Given the description of an element on the screen output the (x, y) to click on. 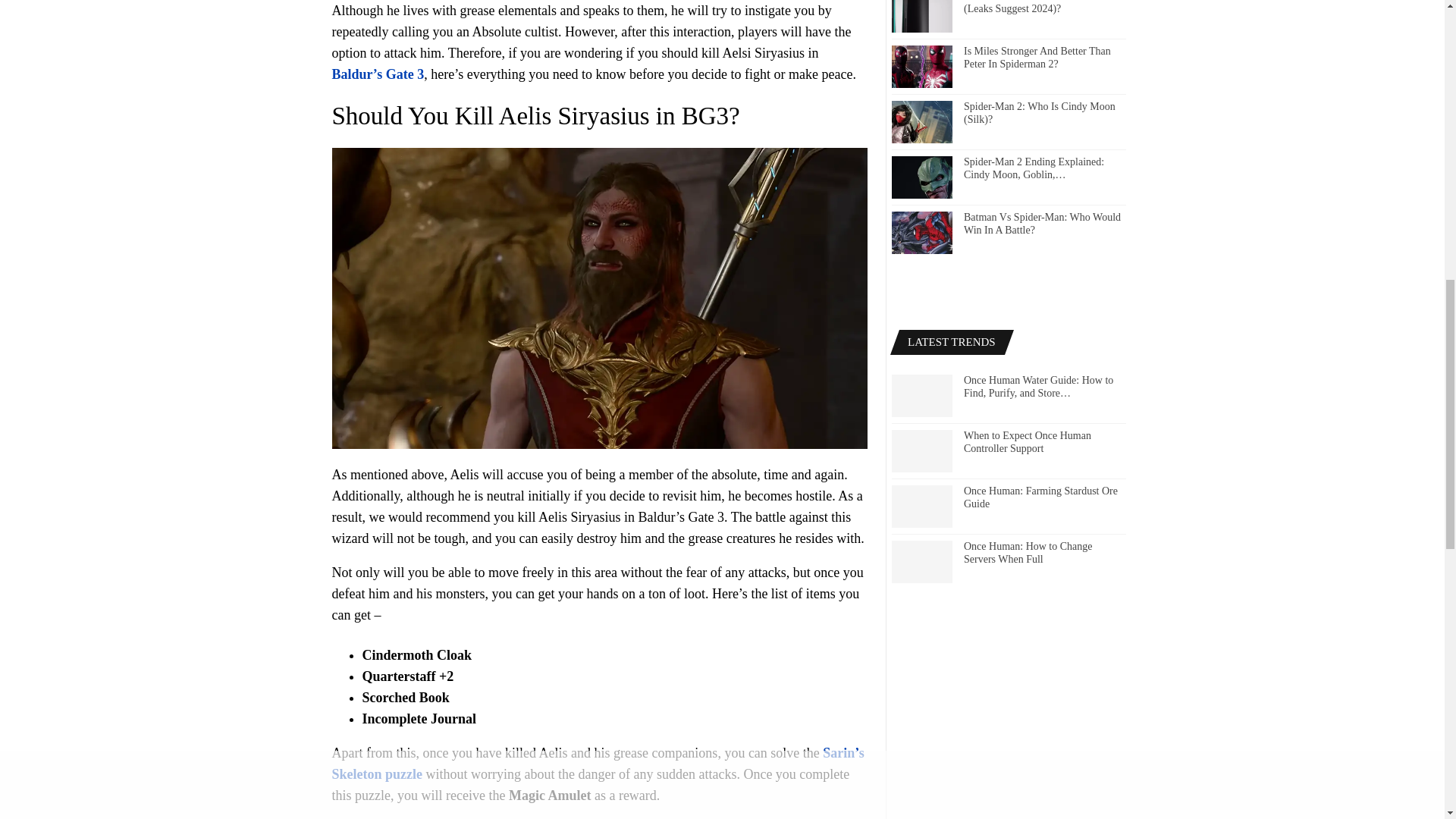
Is Miles Stronger And Better Than Peter In Spiderman 2? (921, 66)
Batman Vs Spider-Man: Who Would Win In A Battle? (921, 232)
